Given the description of an element on the screen output the (x, y) to click on. 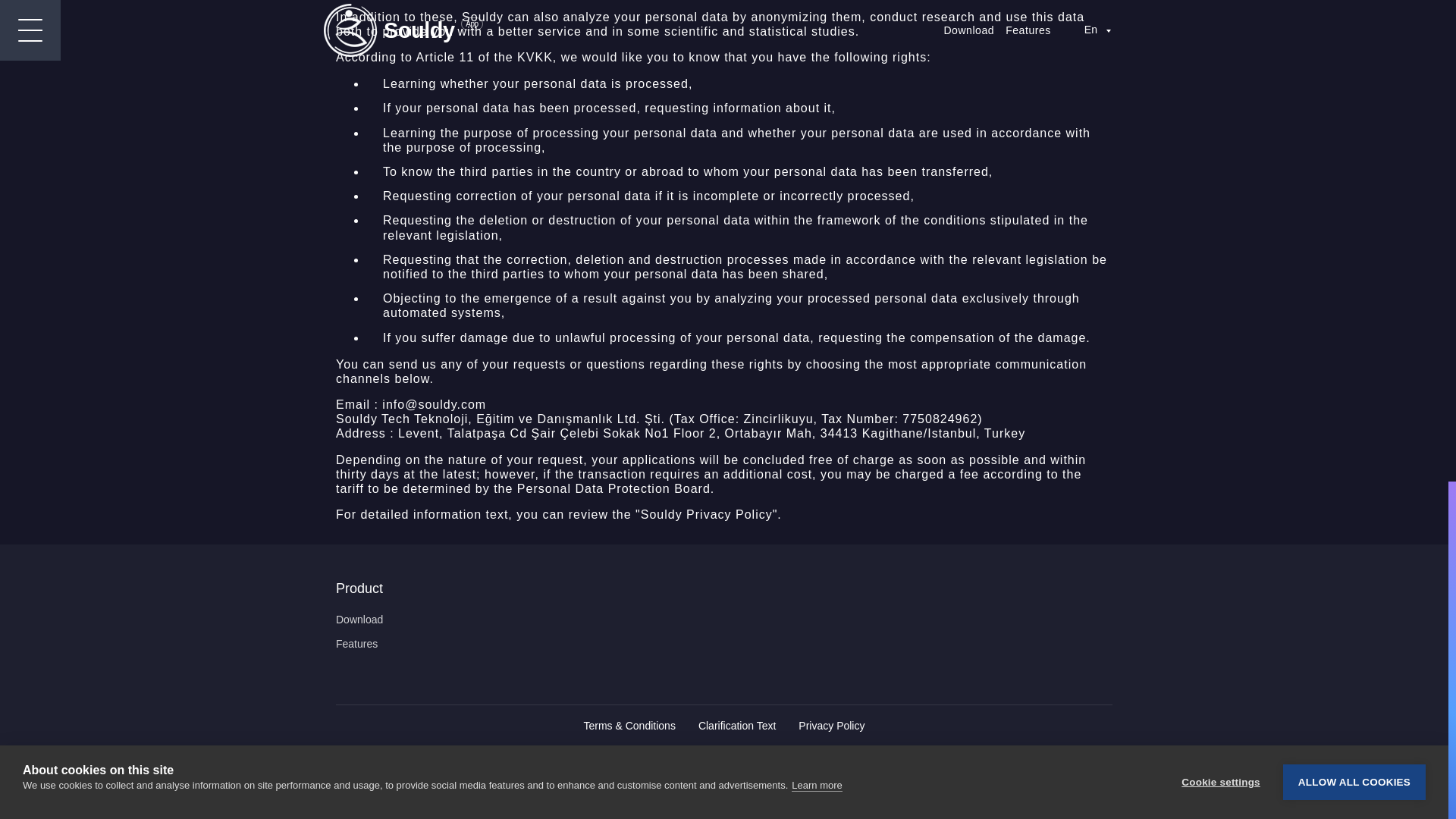
Download (359, 619)
Clarification Text (737, 725)
Privacy Policy (830, 725)
Features (356, 644)
